Given the description of an element on the screen output the (x, y) to click on. 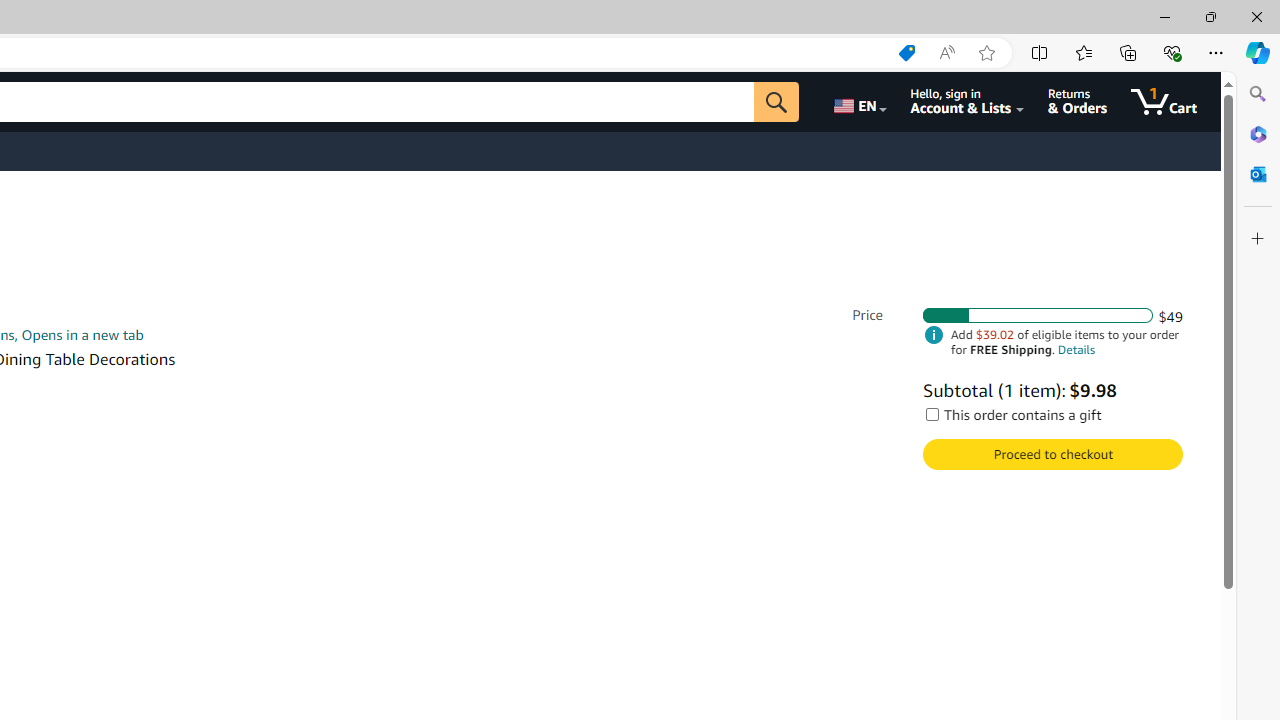
This order contains a gift (932, 414)
Choose a language for shopping. (858, 101)
Returns & Orders (1077, 101)
1 item in cart (1163, 101)
Details (1076, 349)
